Given the description of an element on the screen output the (x, y) to click on. 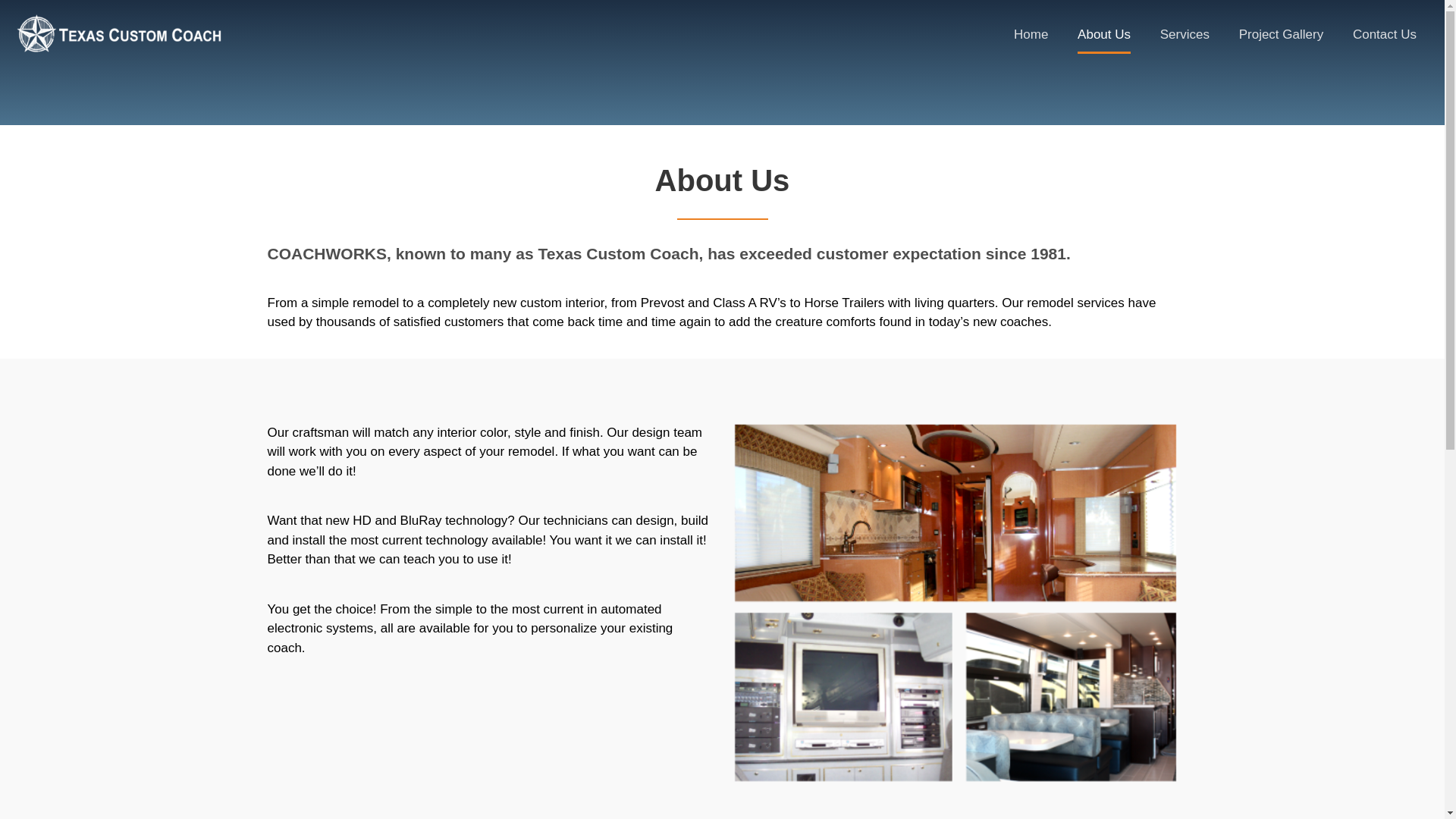
Project Gallery (1280, 34)
Services (1185, 34)
About Us (1103, 39)
Contact Us (1384, 34)
